Given the description of an element on the screen output the (x, y) to click on. 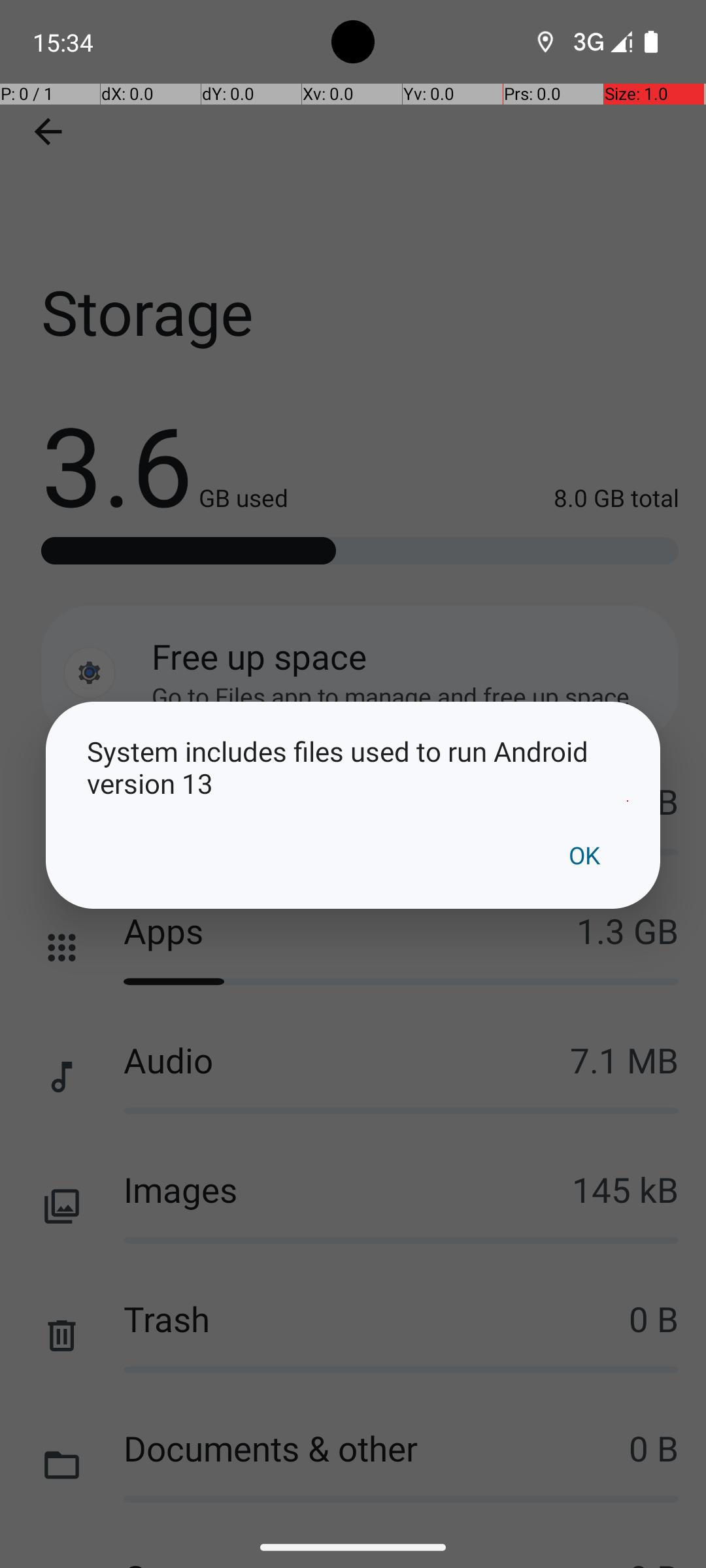
System includes files used to run Android version 13 Element type: android.widget.TextView (352, 766)
